Given the description of an element on the screen output the (x, y) to click on. 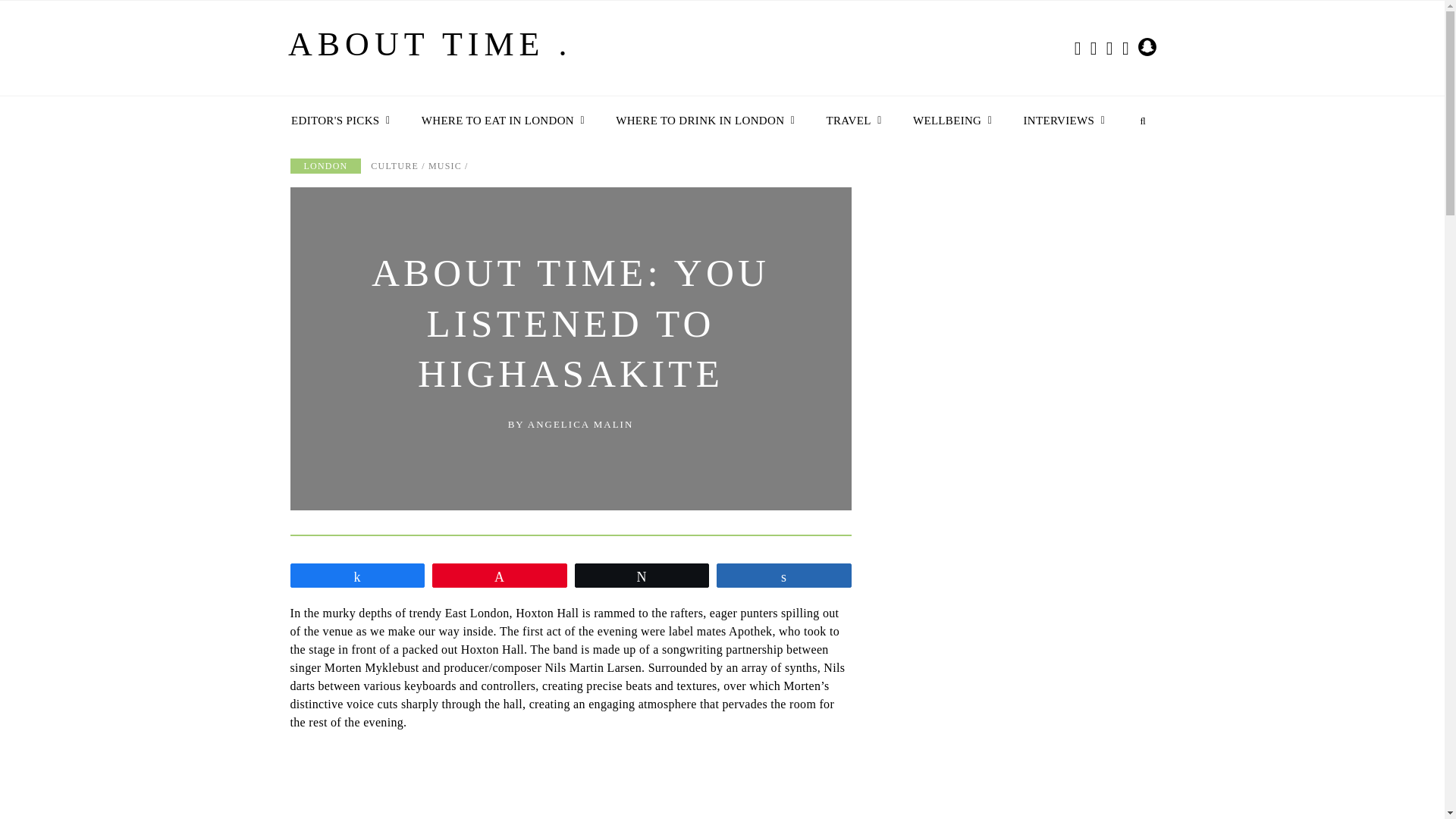
Go to the Culture category archives. (395, 165)
Posts by Angelica Malin (580, 423)
TRAVEL (849, 120)
ABOUT TIME . (430, 51)
Go to the Music category archives. (444, 165)
Go to the London category archives. (324, 165)
WHERE TO DRINK IN LONDON (701, 120)
WHERE TO EAT IN LONDON (499, 120)
EDITOR'S PICKS (337, 120)
